Given the description of an element on the screen output the (x, y) to click on. 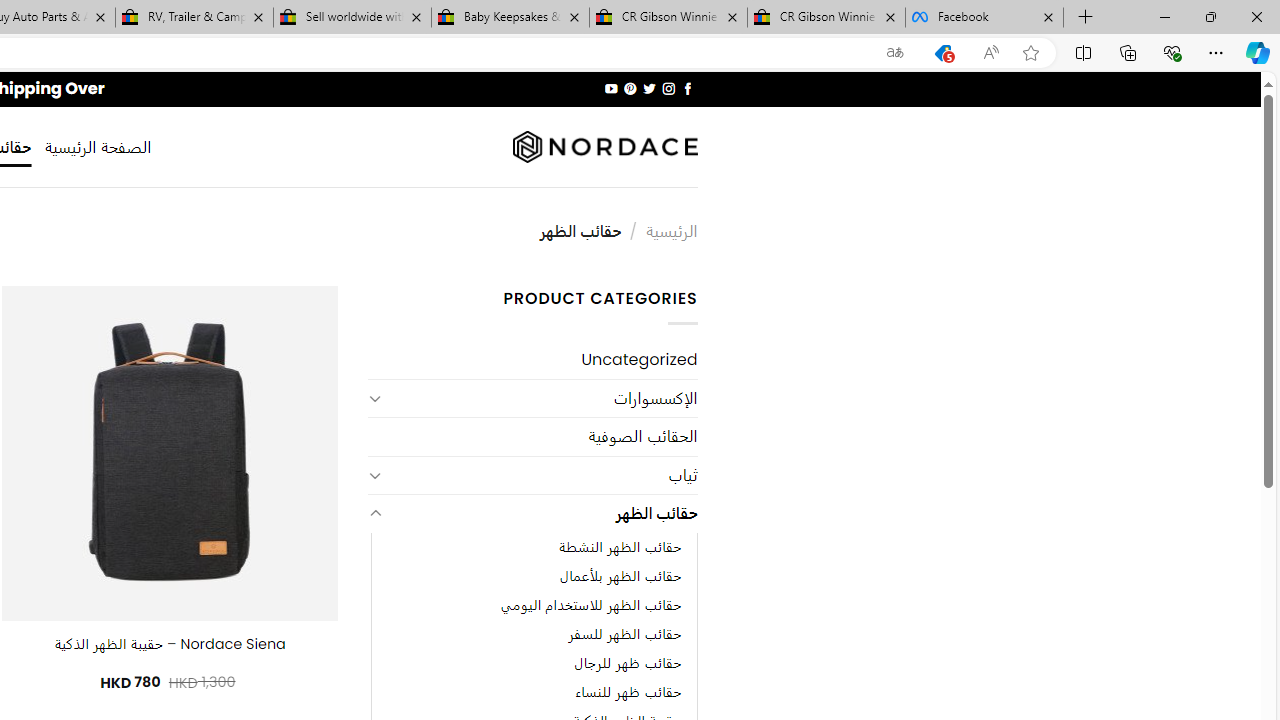
Baby Keepsakes & Announcements for sale | eBay (509, 17)
